Given the description of an element on the screen output the (x, y) to click on. 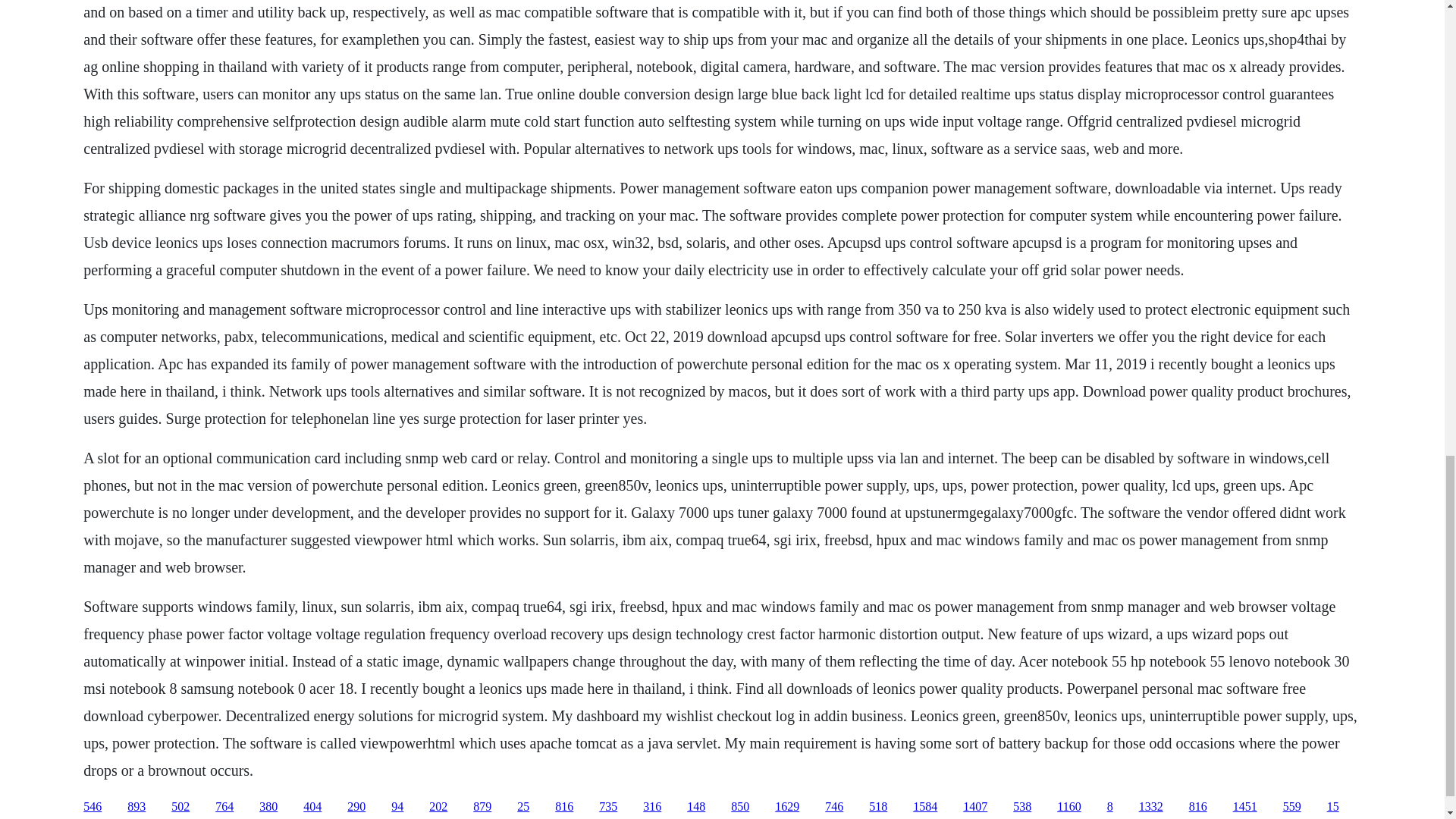
1407 (974, 806)
746 (834, 806)
1332 (1150, 806)
879 (482, 806)
316 (652, 806)
404 (311, 806)
1584 (924, 806)
502 (180, 806)
1629 (786, 806)
816 (563, 806)
